Given the description of an element on the screen output the (x, y) to click on. 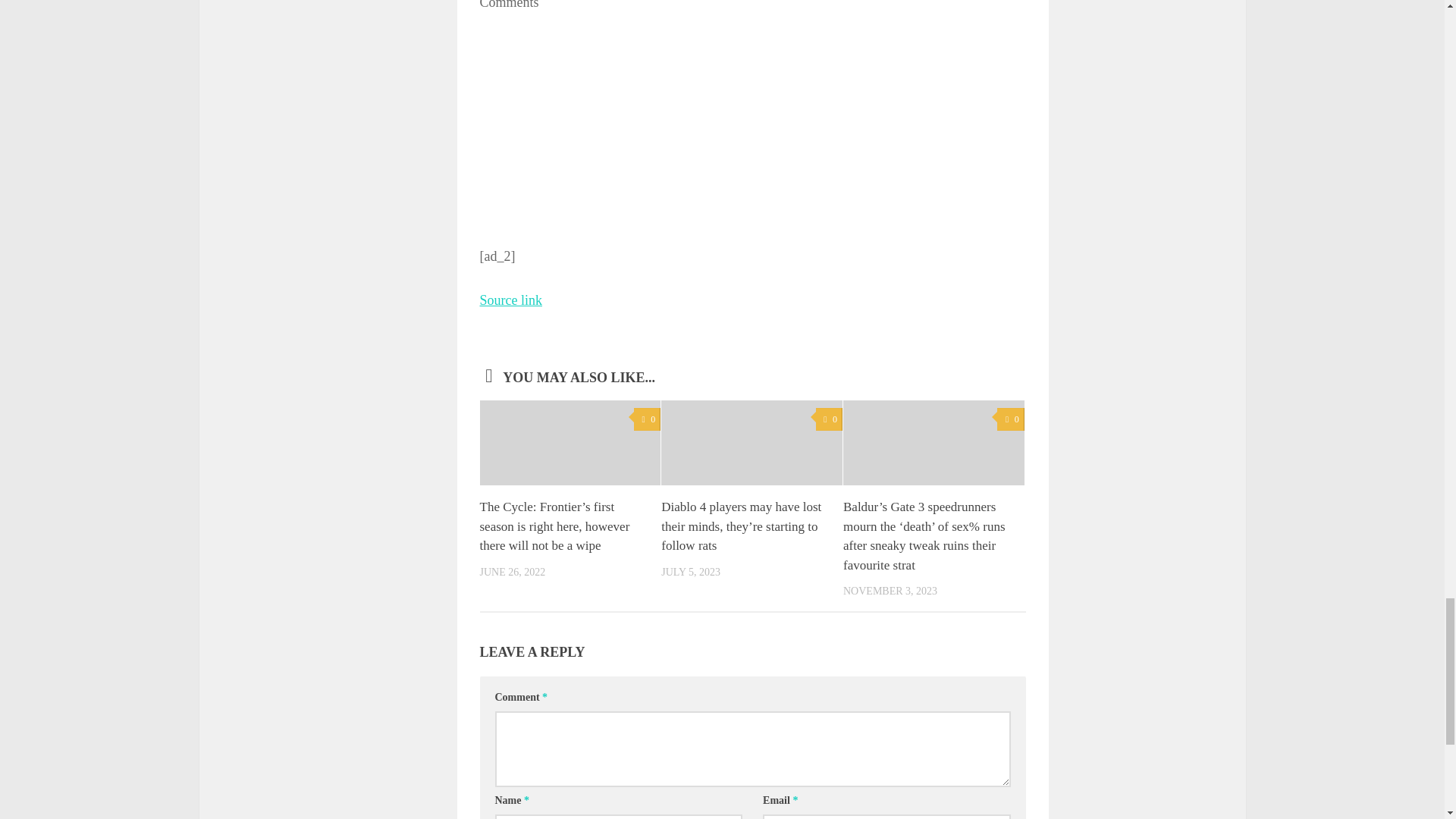
Source link (510, 299)
0 (1010, 419)
0 (829, 419)
0 (647, 419)
